Given the description of an element on the screen output the (x, y) to click on. 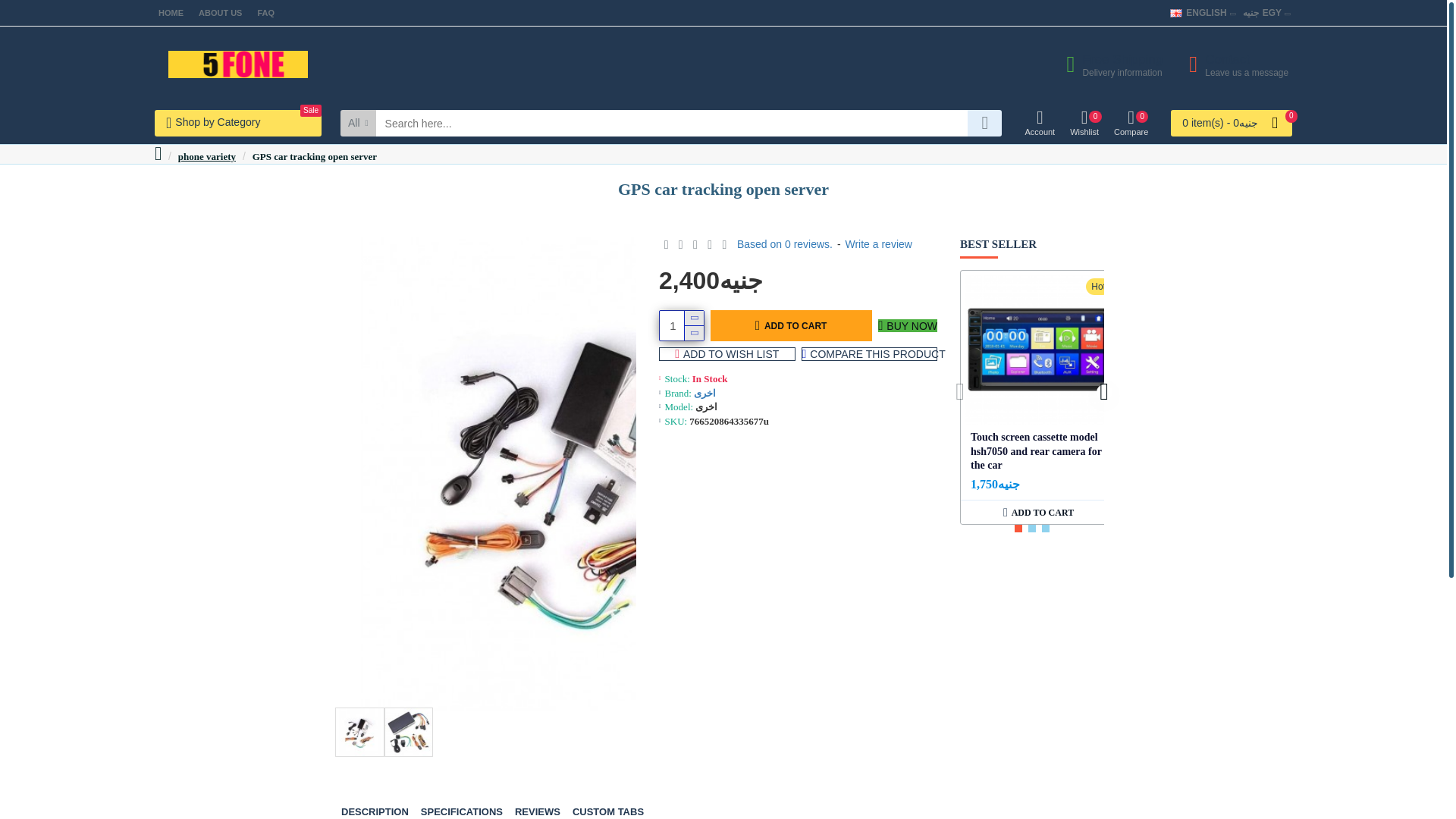
ABOUT US (220, 13)
HOME (170, 13)
English (1176, 13)
FAQ (1232, 63)
1 (265, 13)
Account (1131, 122)
ENGLISH (681, 325)
GPS car tracking open server (1108, 63)
GPS car tracking open server (1039, 122)
GPS car tracking open server (1197, 12)
SHOPING STORE (408, 731)
